Given the description of an element on the screen output the (x, y) to click on. 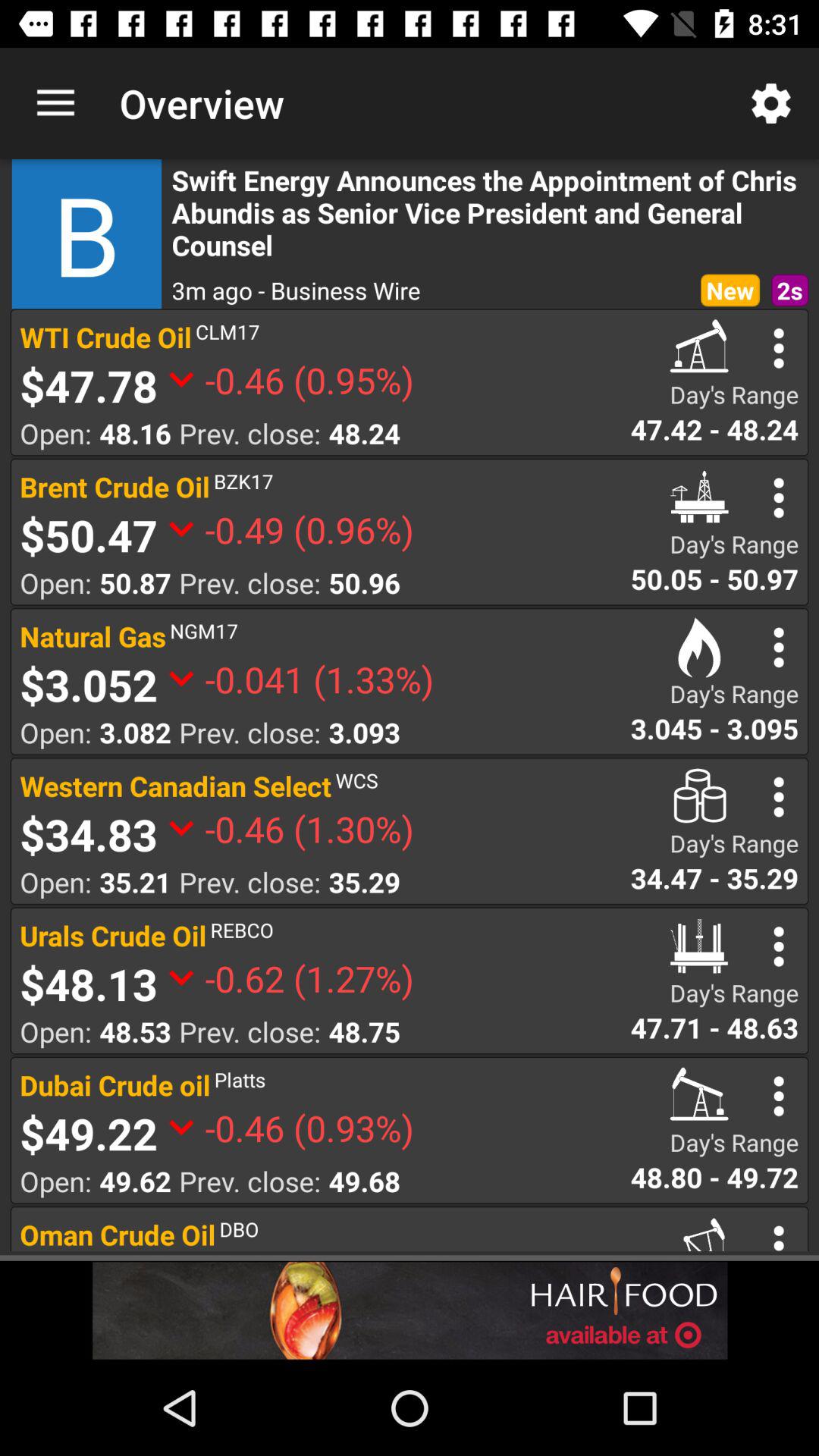
opens a list of options for the stock (778, 497)
